Given the description of an element on the screen output the (x, y) to click on. 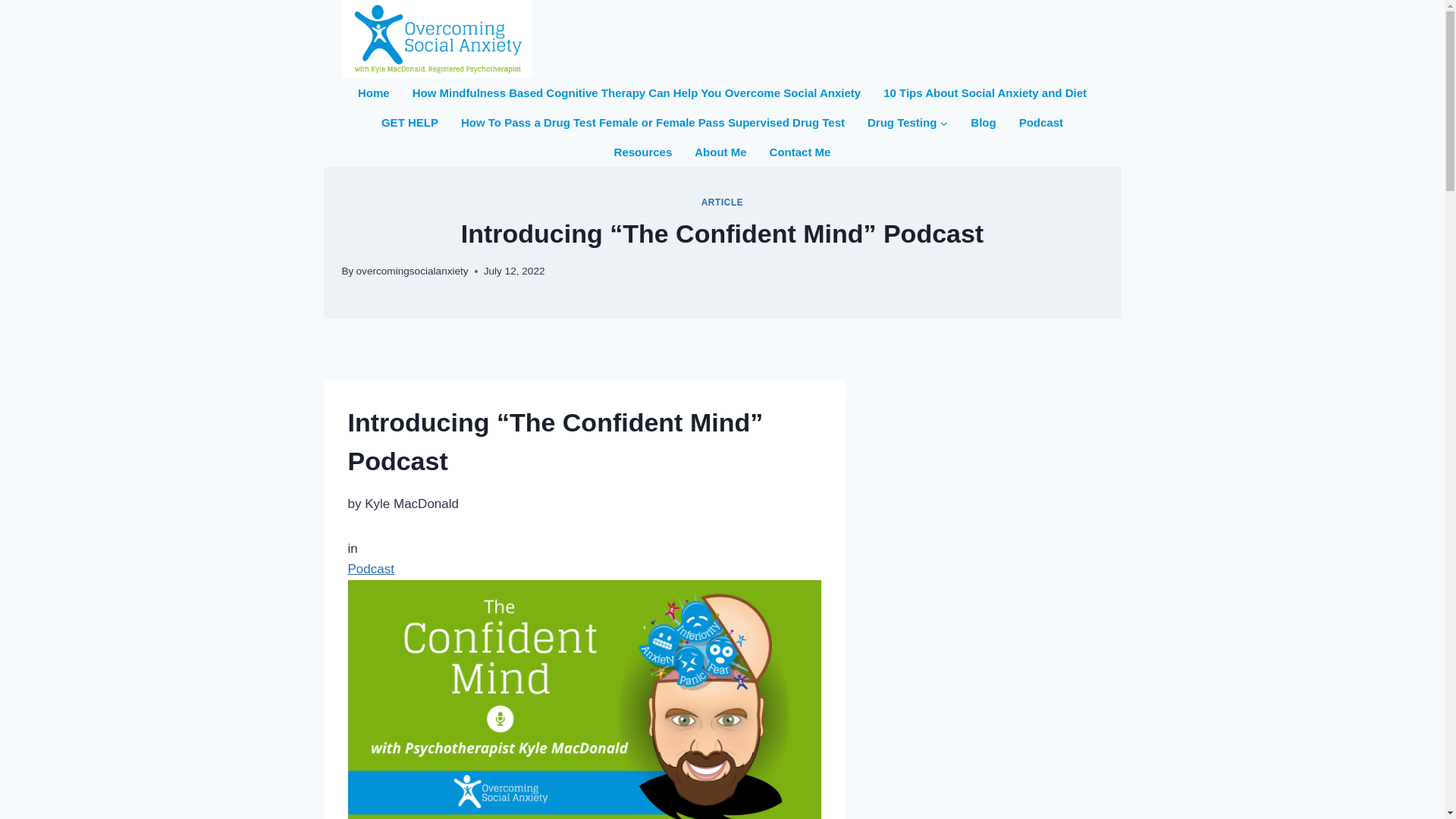
Resources (643, 152)
Blog (983, 122)
GET HELP (409, 122)
Podcast (370, 568)
ARTICLE (722, 202)
About Me (719, 152)
Contact Me (800, 152)
Drug Testing (907, 122)
10 Tips About Social Anxiety and Diet (984, 92)
overcomingsocialanxiety (412, 270)
